Given the description of an element on the screen output the (x, y) to click on. 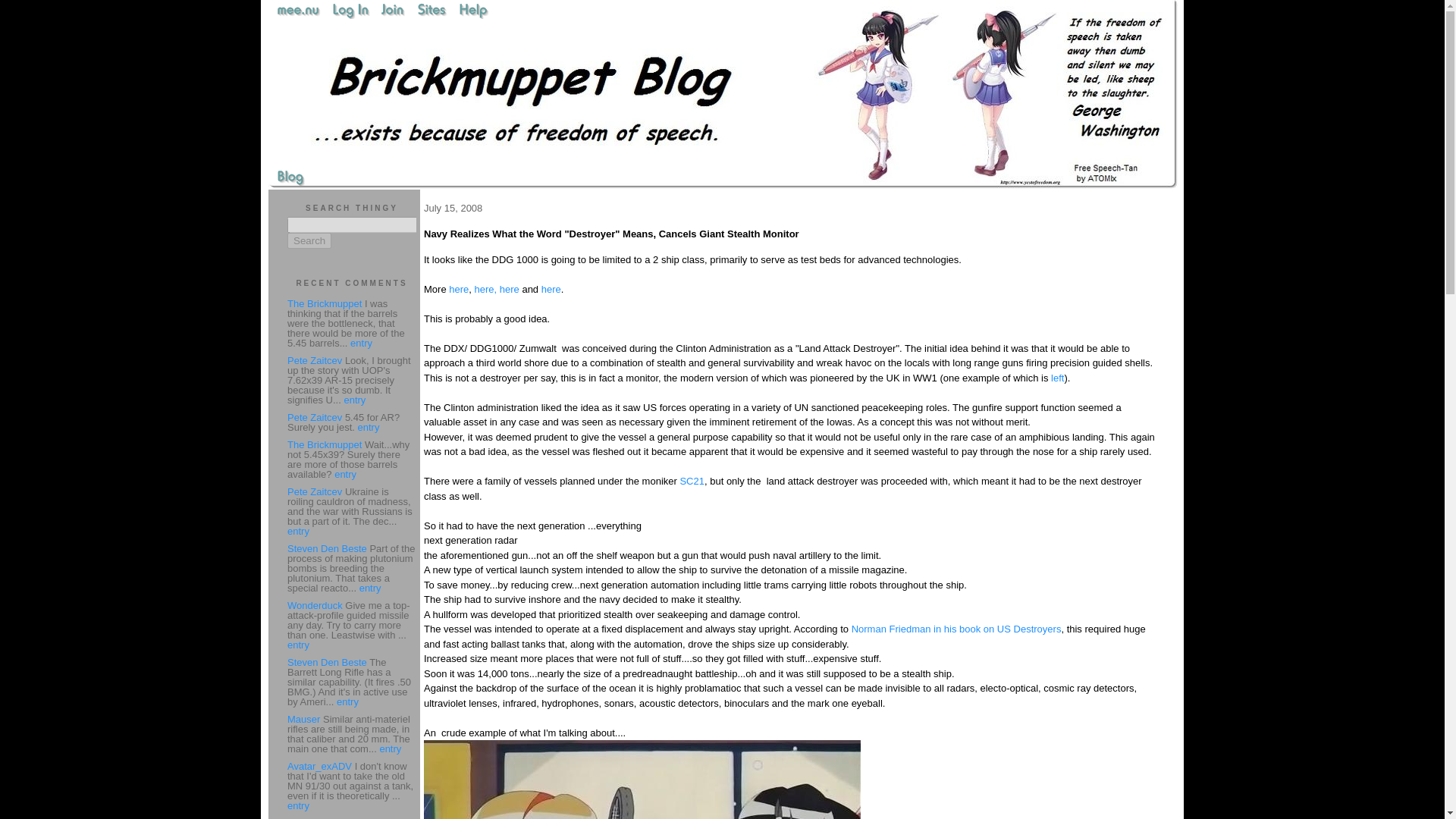
Pete Zaitcev (314, 360)
entry (361, 342)
here (550, 288)
SC21 (691, 480)
left (1057, 378)
Norman Friedman in his book on US Destroyers (956, 628)
Search (308, 240)
here (509, 288)
The Brickmuppet (323, 303)
here (458, 288)
here, (485, 288)
Search (308, 240)
